Given the description of an element on the screen output the (x, y) to click on. 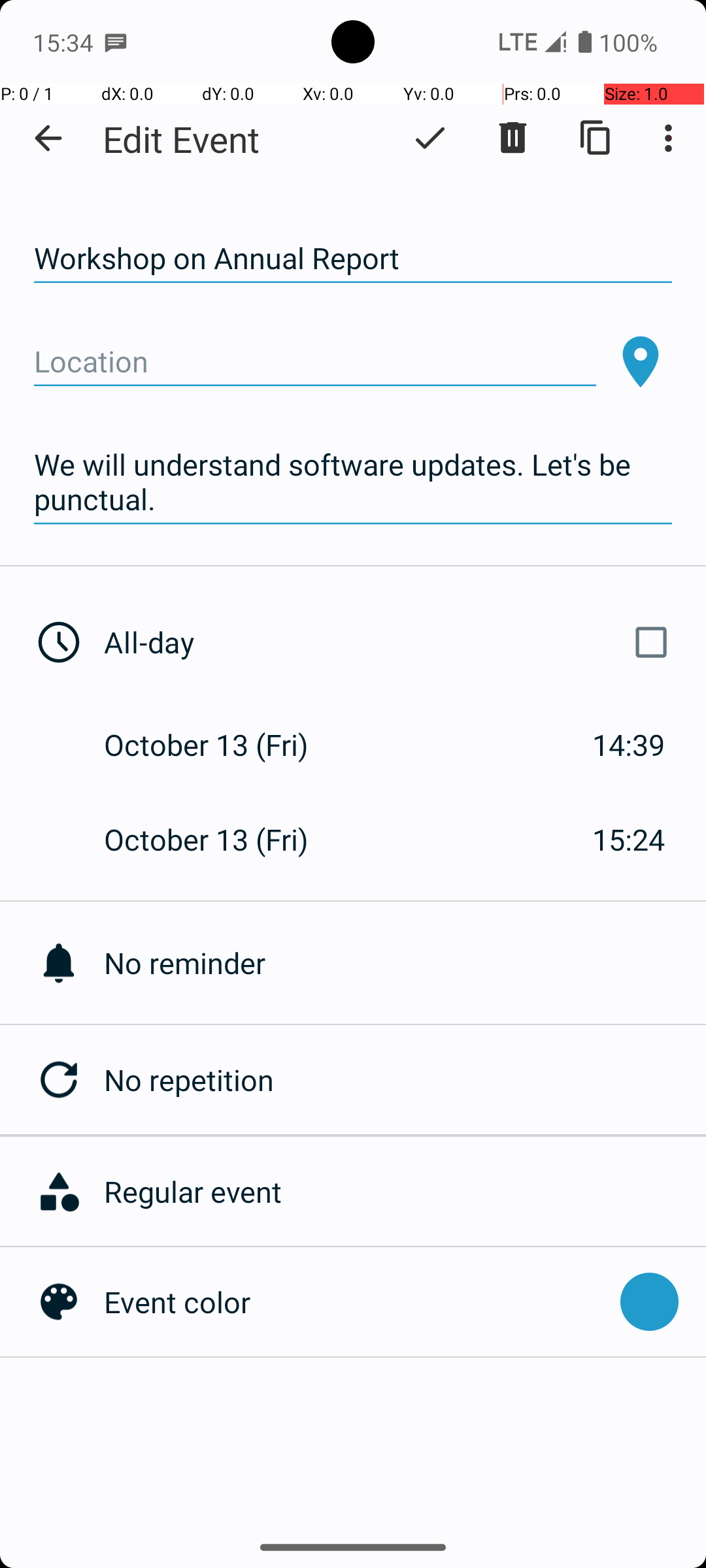
We will understand software updates. Let's be punctual. Element type: android.widget.EditText (352, 482)
October 13 (Fri) Element type: android.widget.TextView (219, 744)
14:39 Element type: android.widget.TextView (628, 744)
15:24 Element type: android.widget.TextView (628, 838)
